Given the description of an element on the screen output the (x, y) to click on. 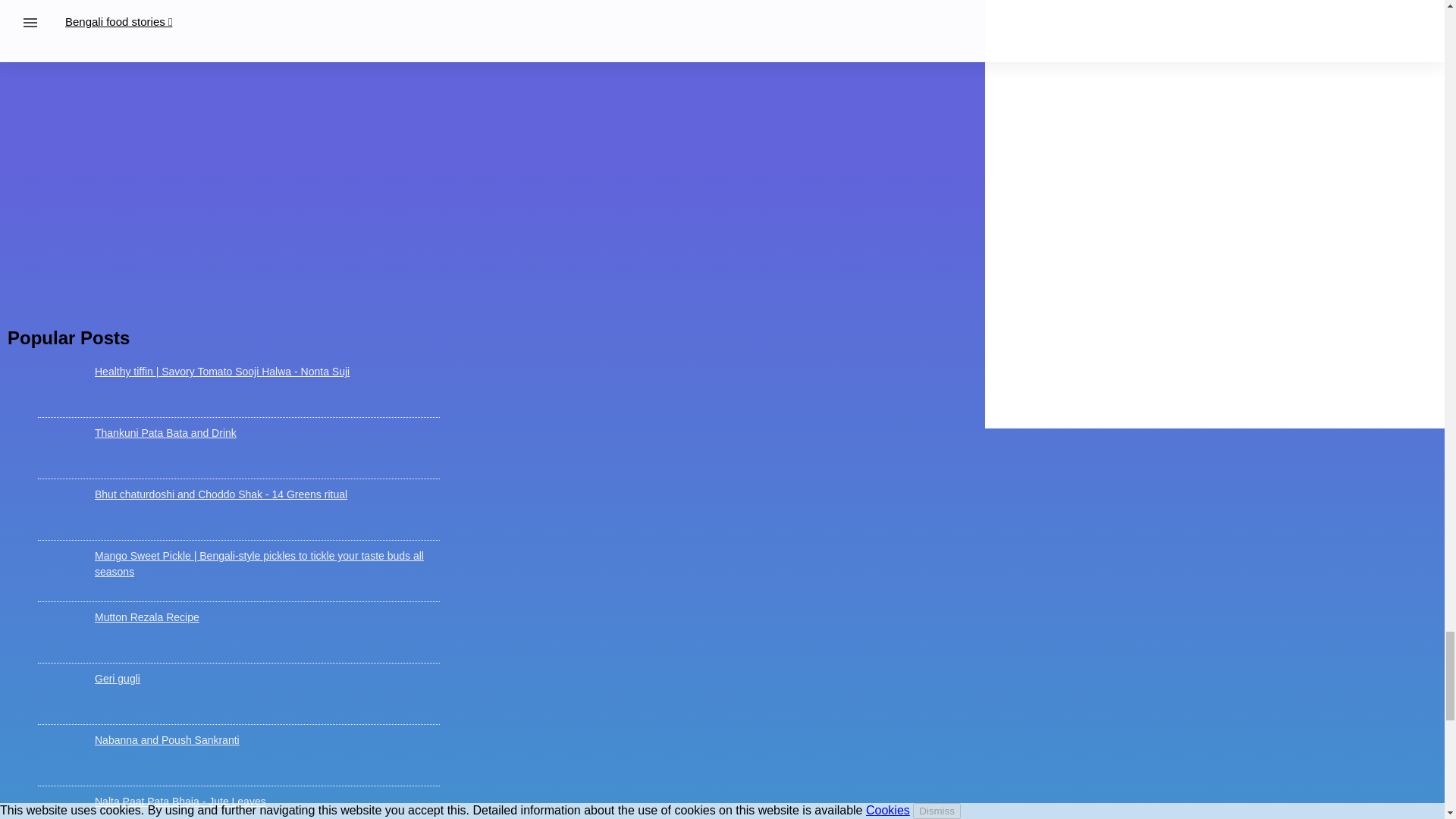
Mutton Rezala Recipe (146, 616)
Thankuni Pata Bata and Drink (164, 432)
Bhut chaturdoshi and Choddo Shak - 14 Greens ritual (220, 494)
